Given the description of an element on the screen output the (x, y) to click on. 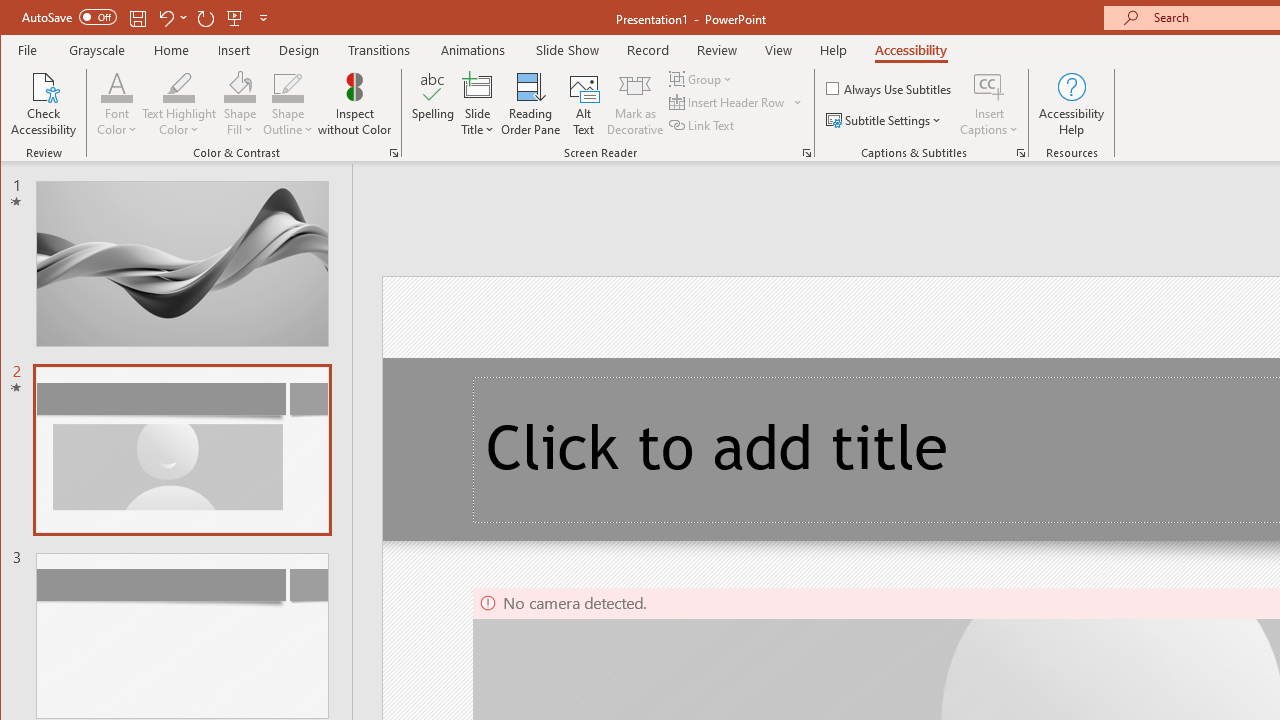
Screen Reader (806, 152)
Accessibility Help (1071, 104)
Spelling... (432, 104)
Slide (182, 635)
Shape Fill (239, 104)
Inspect without Color (355, 104)
Text Highlight Color (178, 104)
Alt Text (584, 104)
